Given the description of an element on the screen output the (x, y) to click on. 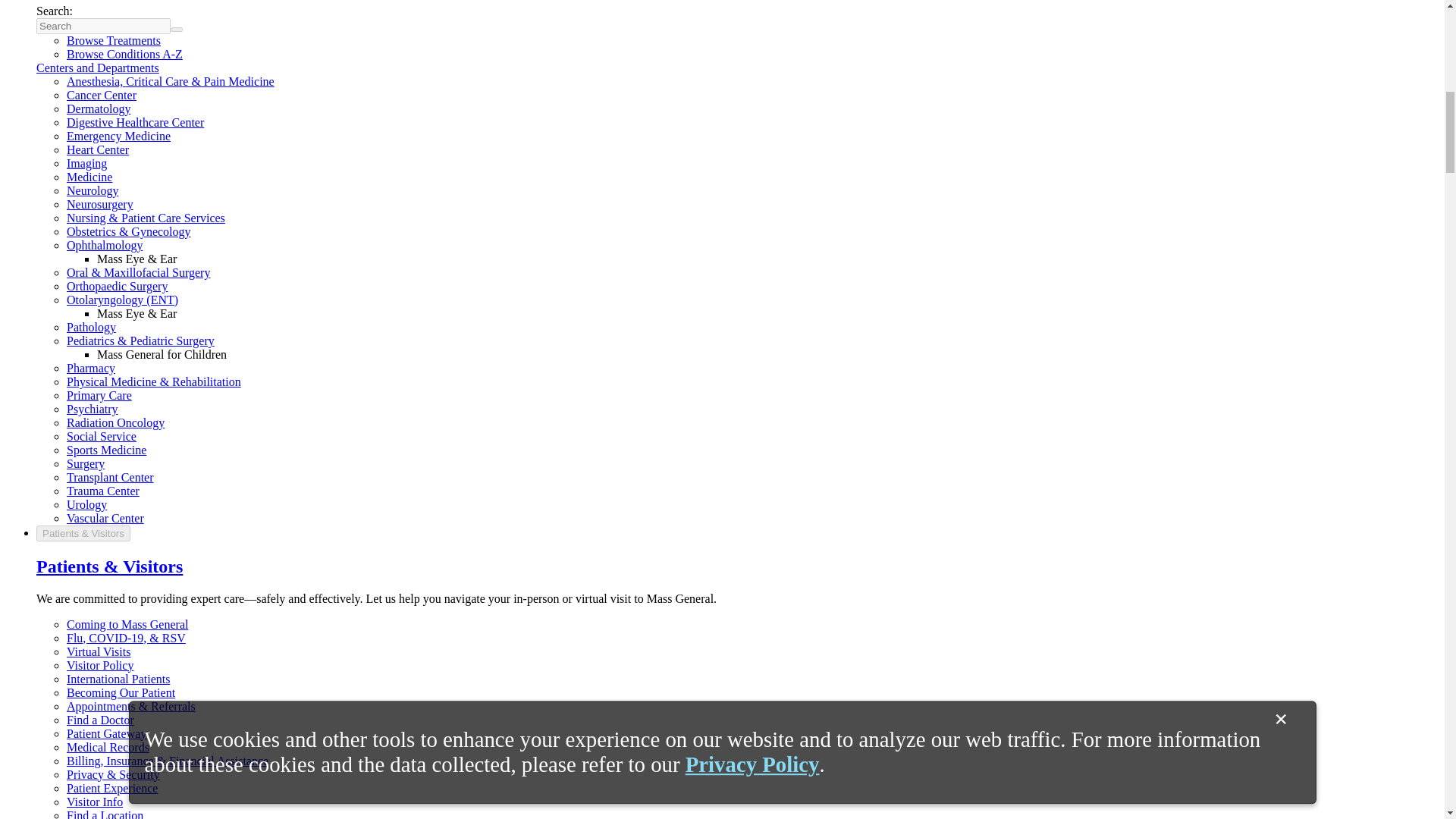
Digestive Healthcare Center (134, 122)
Browse Conditions A-Z (124, 53)
Emergency Medicine (118, 135)
Heart Center (97, 149)
Browse Treatments (113, 40)
Centers and Departments (97, 67)
Cancer Center (101, 94)
Dermatology (98, 108)
